Given the description of an element on the screen output the (x, y) to click on. 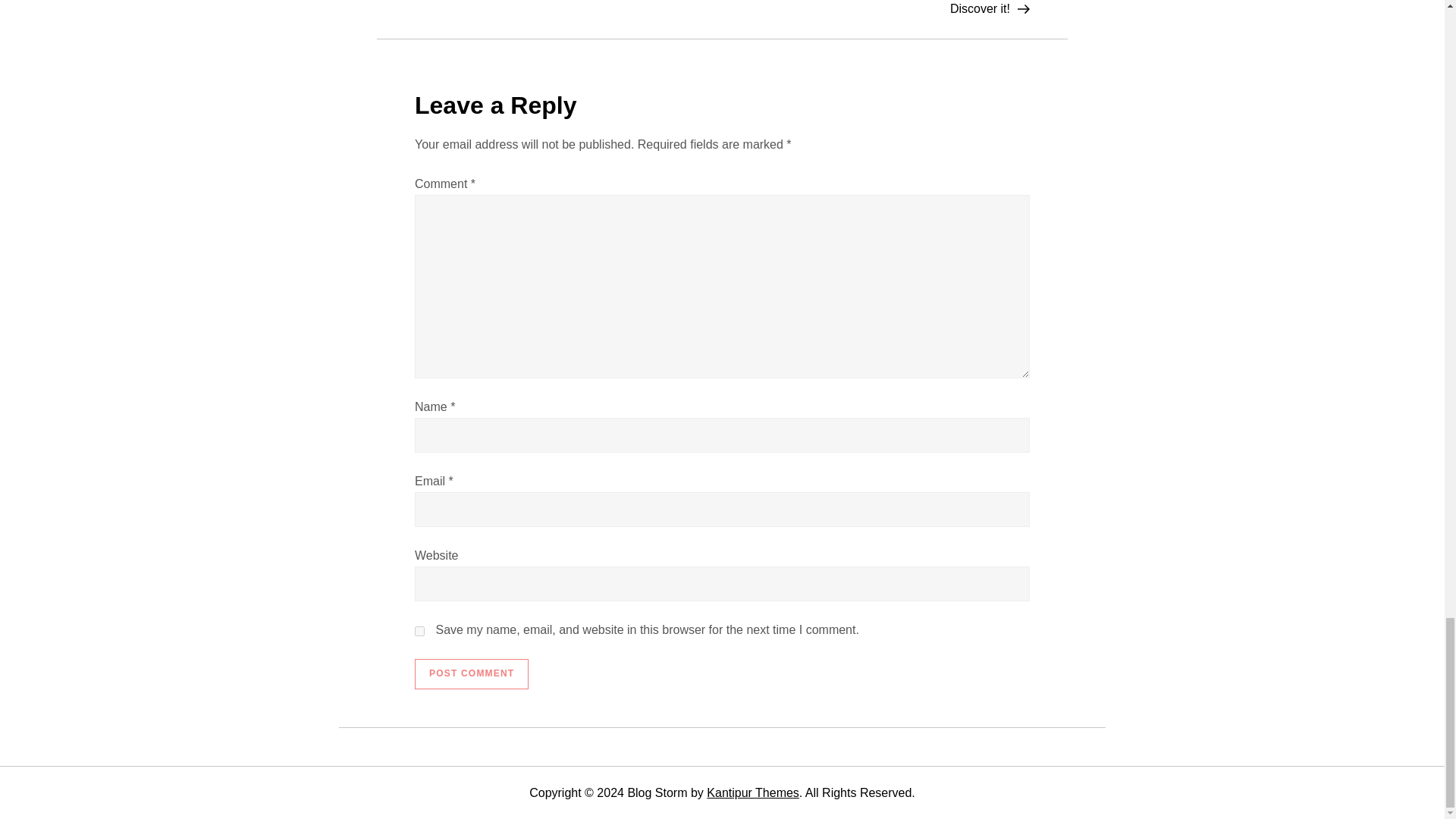
Post Comment (471, 674)
yes (419, 631)
Kantipur Themes (752, 792)
Post Comment (471, 674)
